Given the description of an element on the screen output the (x, y) to click on. 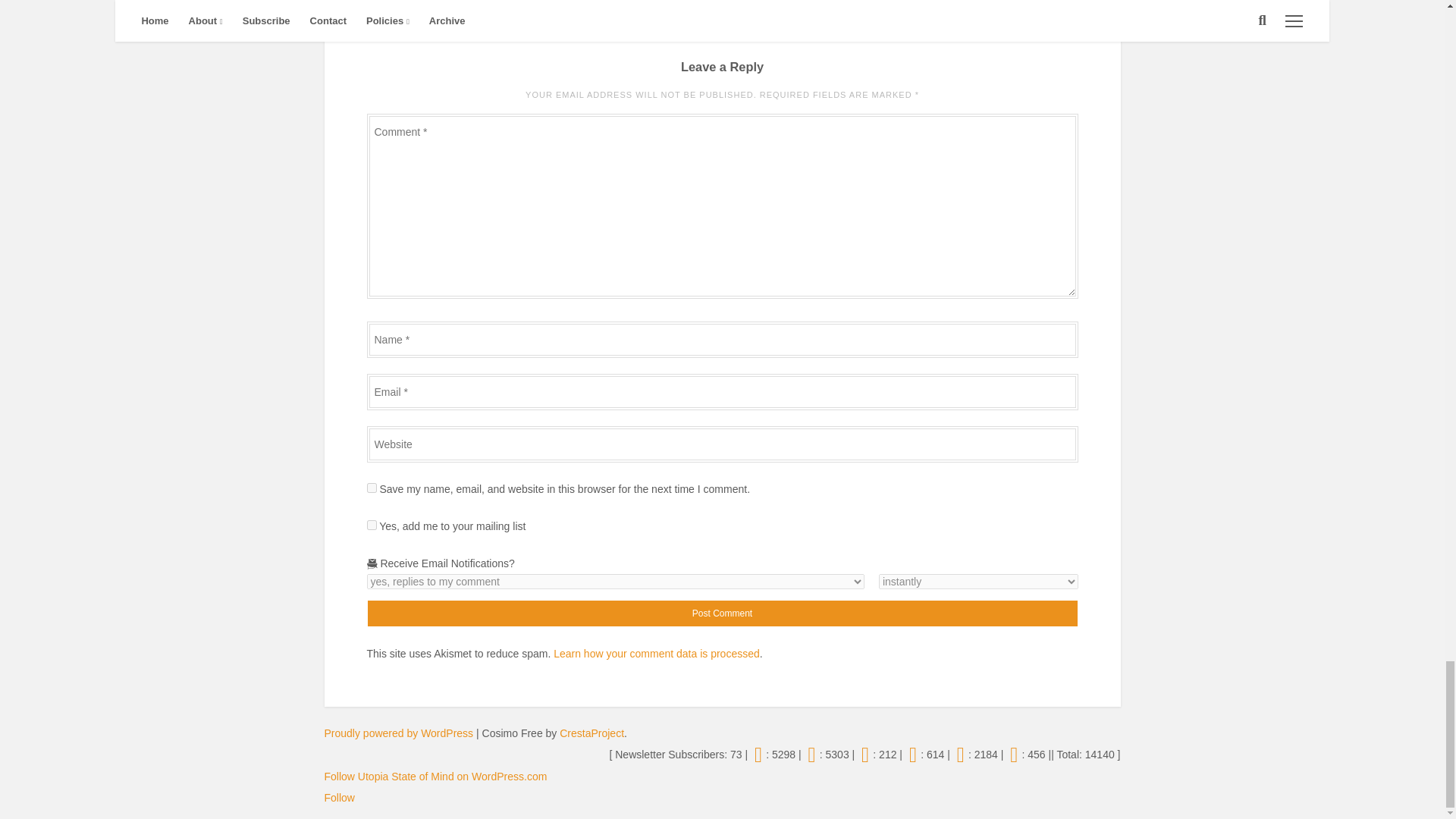
Instagram (812, 754)
TikTok (960, 754)
YouTube (912, 754)
yes (371, 488)
Facebook (864, 754)
Receive Notifications? (615, 581)
CrestaProject (591, 733)
Notify Me (978, 581)
Twitter (758, 754)
1 (371, 524)
